Given the description of an element on the screen output the (x, y) to click on. 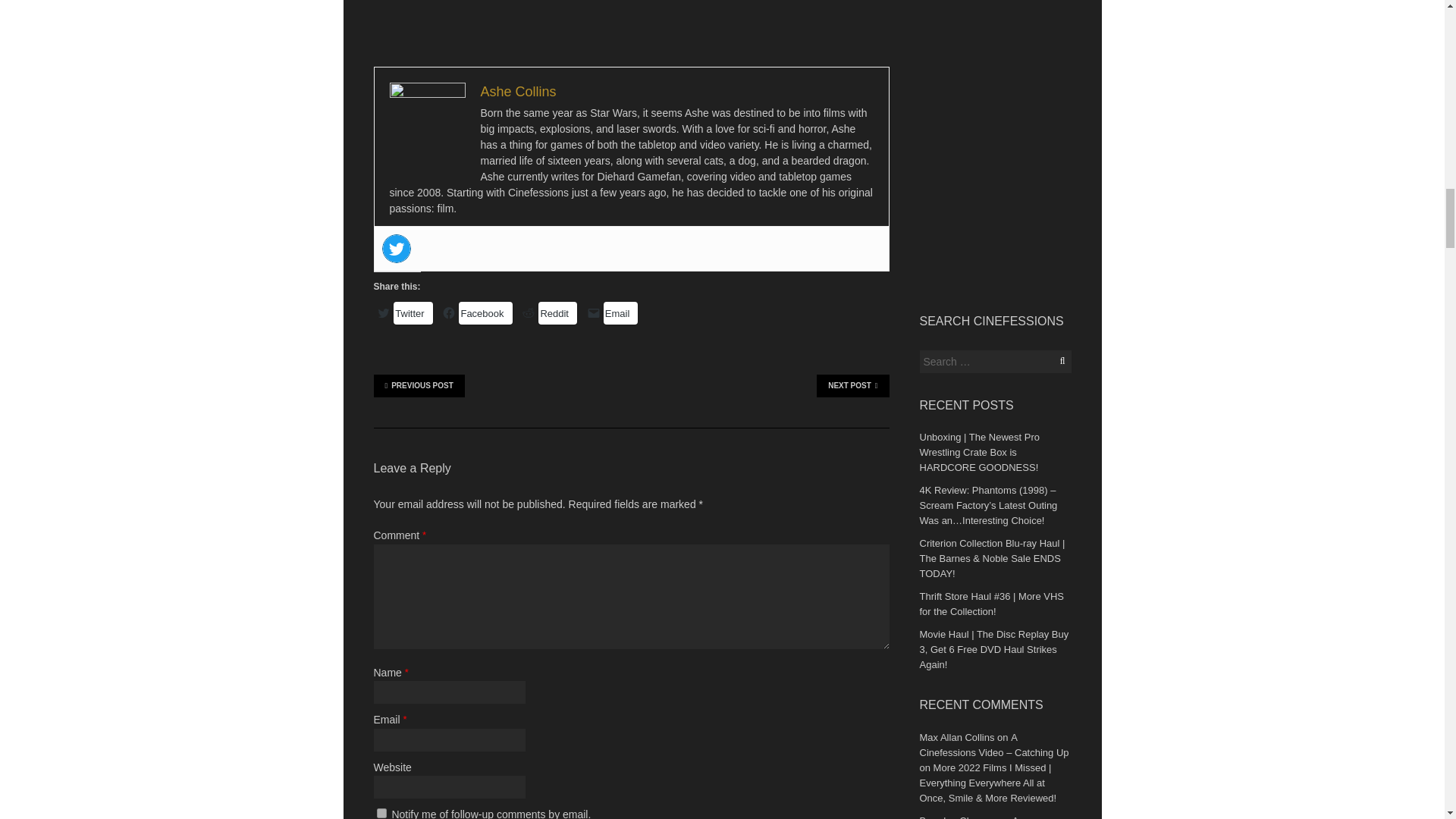
Twitter (395, 248)
Click to share on Twitter (412, 313)
subscribe (380, 813)
